Given the description of an element on the screen output the (x, y) to click on. 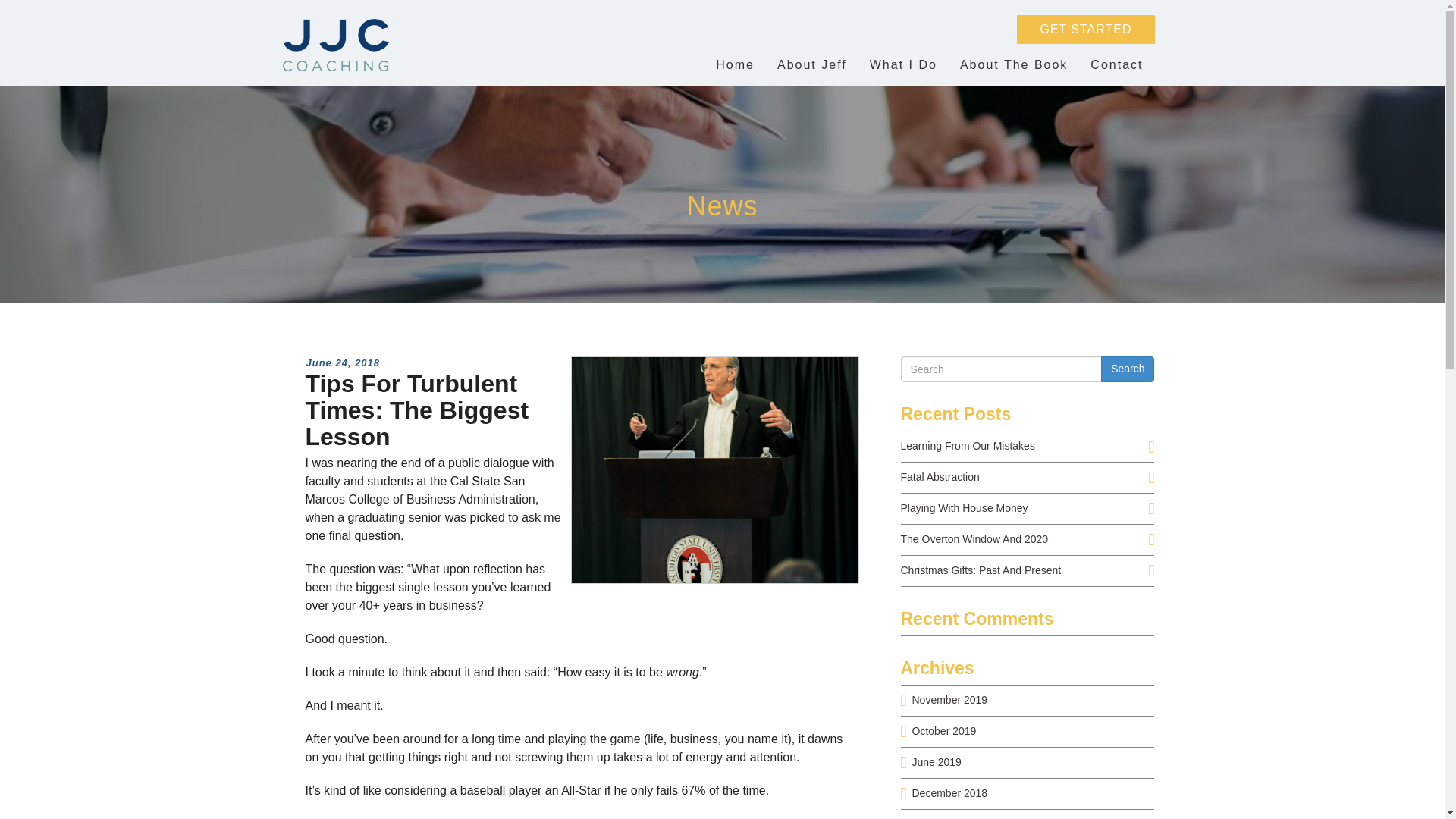
What I Do (903, 64)
Fatal Abstraction (940, 476)
October 2019 (943, 730)
The Overton Window And 2020 (974, 539)
Search (1127, 369)
GET STARTED (1085, 29)
June 2019 (935, 761)
December 2018 (949, 793)
About the Book (1013, 64)
Christmas Gifts: Past And Present (981, 570)
November 2019 (949, 699)
Jeff Campbell Mentoring (336, 45)
What I Do (903, 64)
Home (735, 64)
